Given the description of an element on the screen output the (x, y) to click on. 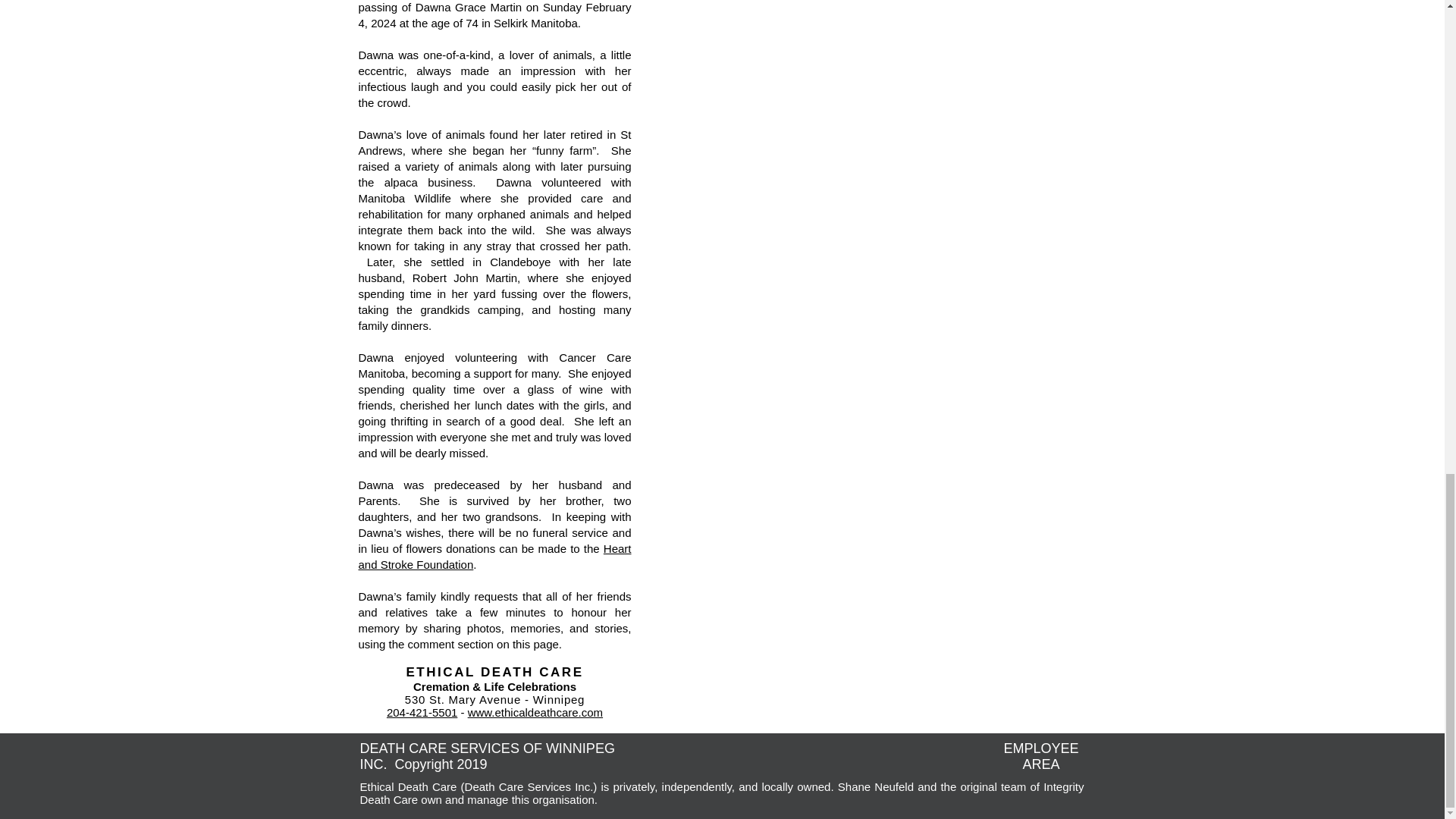
EMPLOYEE AREA (1040, 756)
Heart and Stroke Foundation (494, 556)
www.ethicaldeathcare.com (534, 712)
204-421-5501 (422, 712)
